Given the description of an element on the screen output the (x, y) to click on. 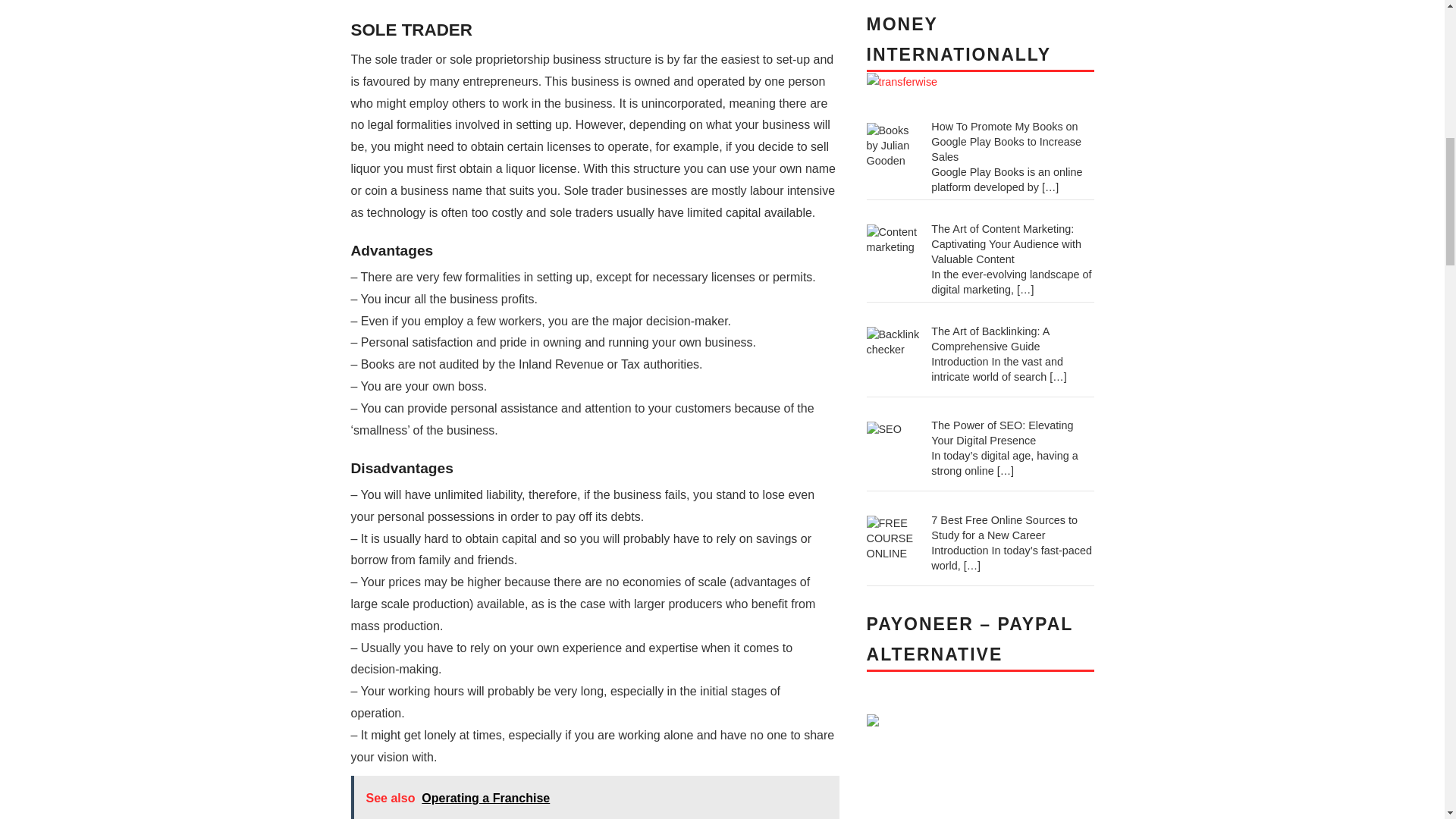
See also  Operating a Franchise (594, 797)
